Given the description of an element on the screen output the (x, y) to click on. 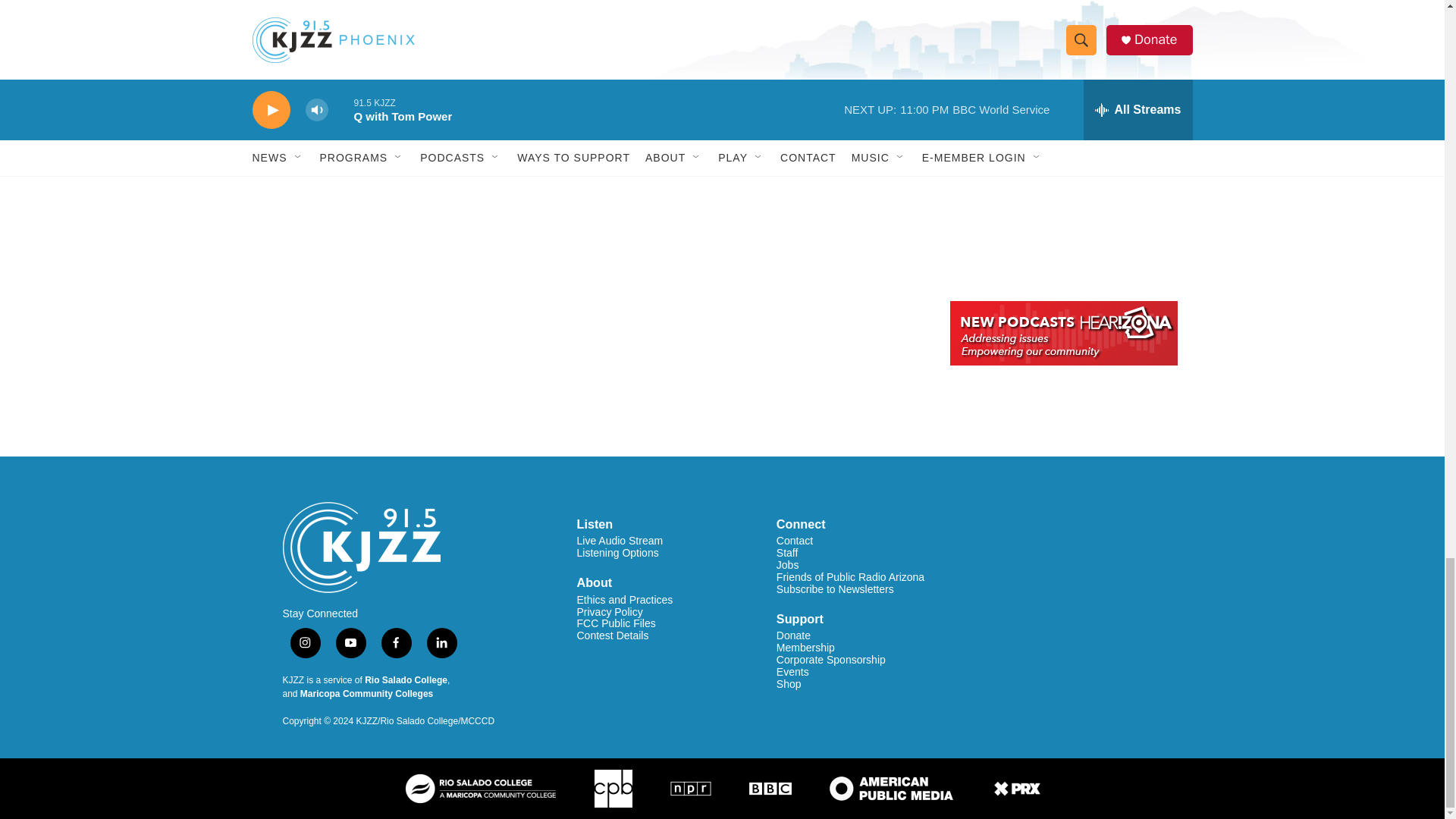
3rd party ad content (1062, 176)
